Given the description of an element on the screen output the (x, y) to click on. 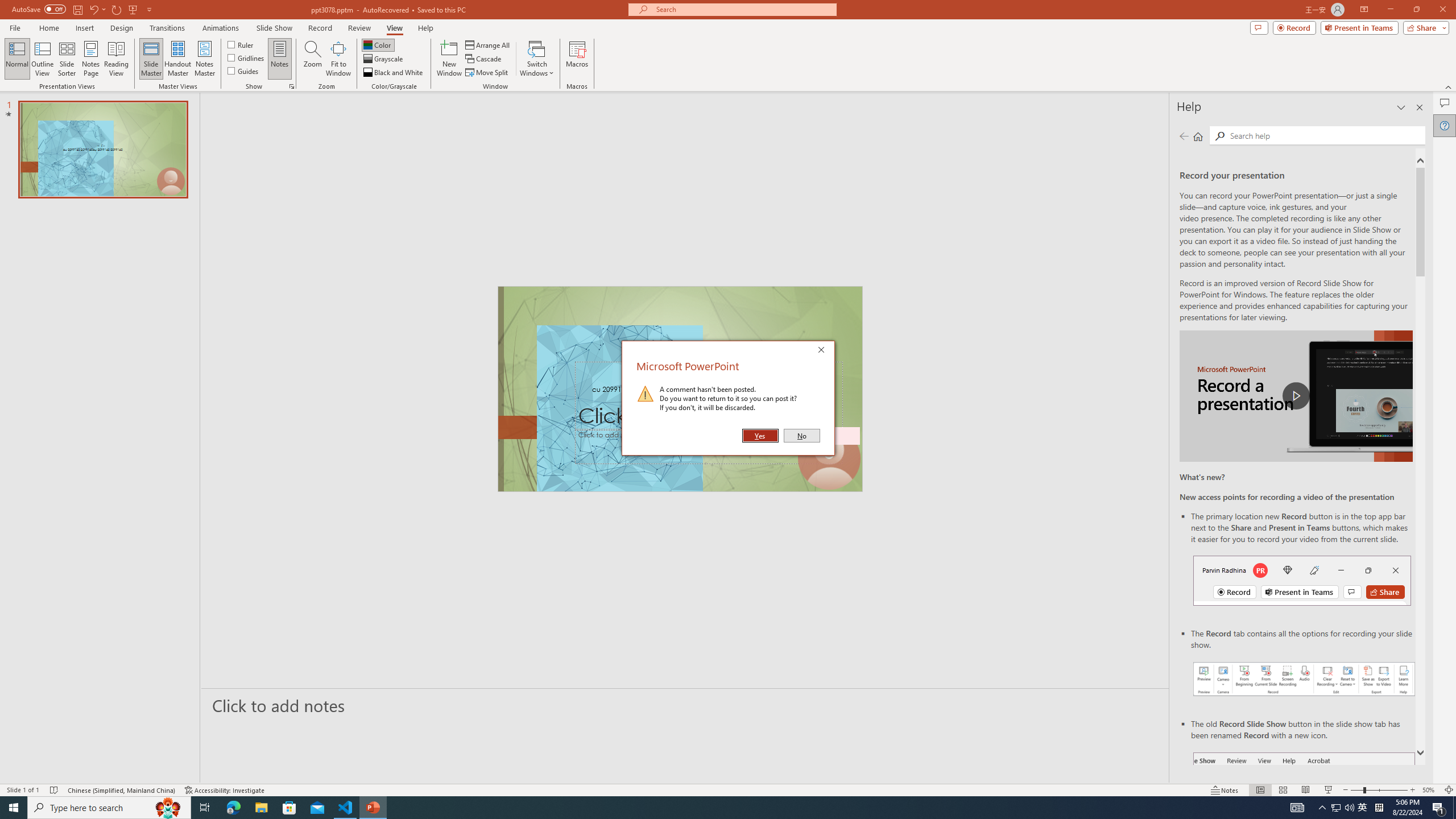
Switch Windows (537, 58)
No (801, 435)
Guides (243, 69)
Cascade (484, 58)
